Given the description of an element on the screen output the (x, y) to click on. 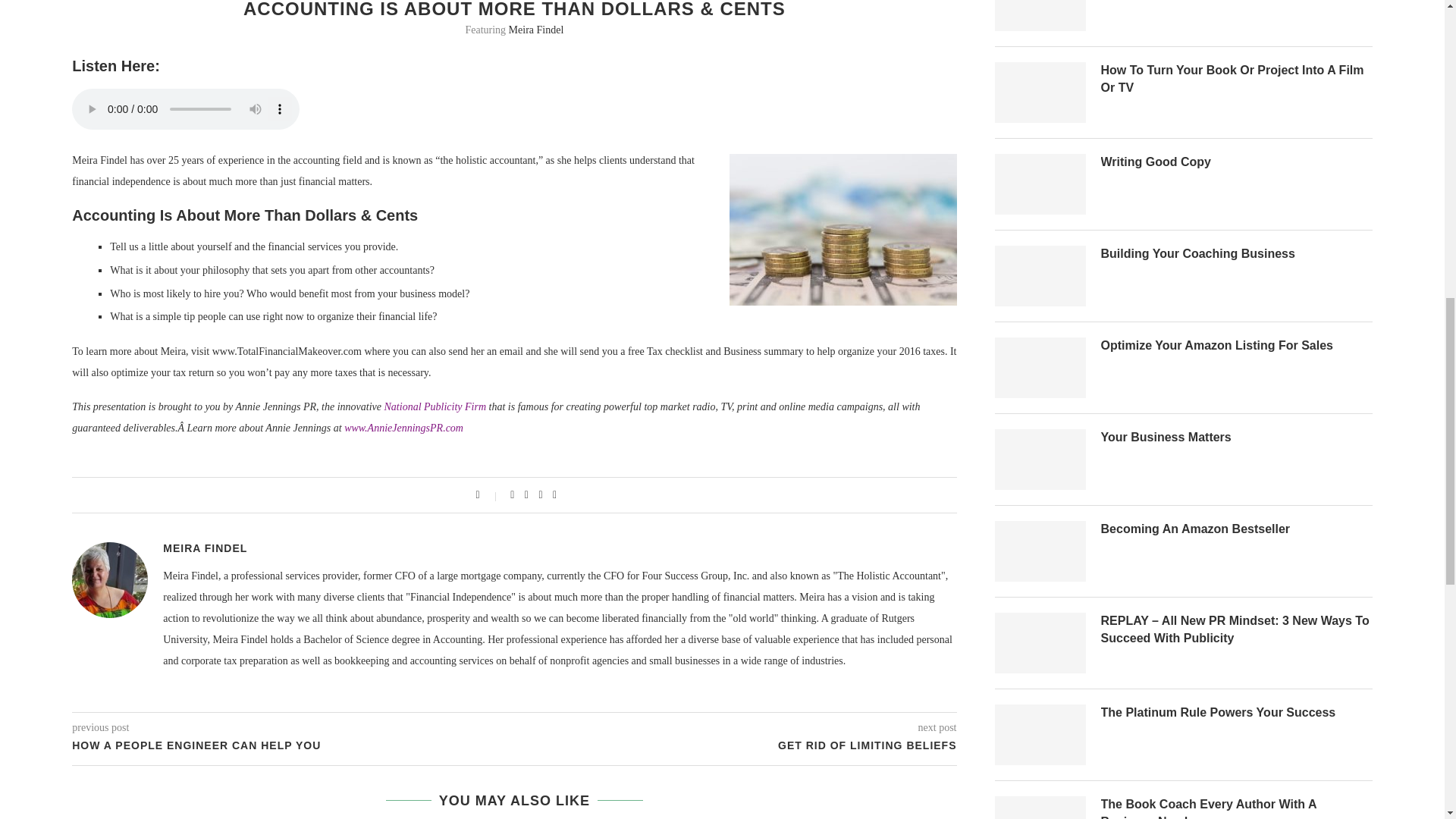
Posts by Meira Findel (205, 548)
Like (488, 494)
